Given the description of an element on the screen output the (x, y) to click on. 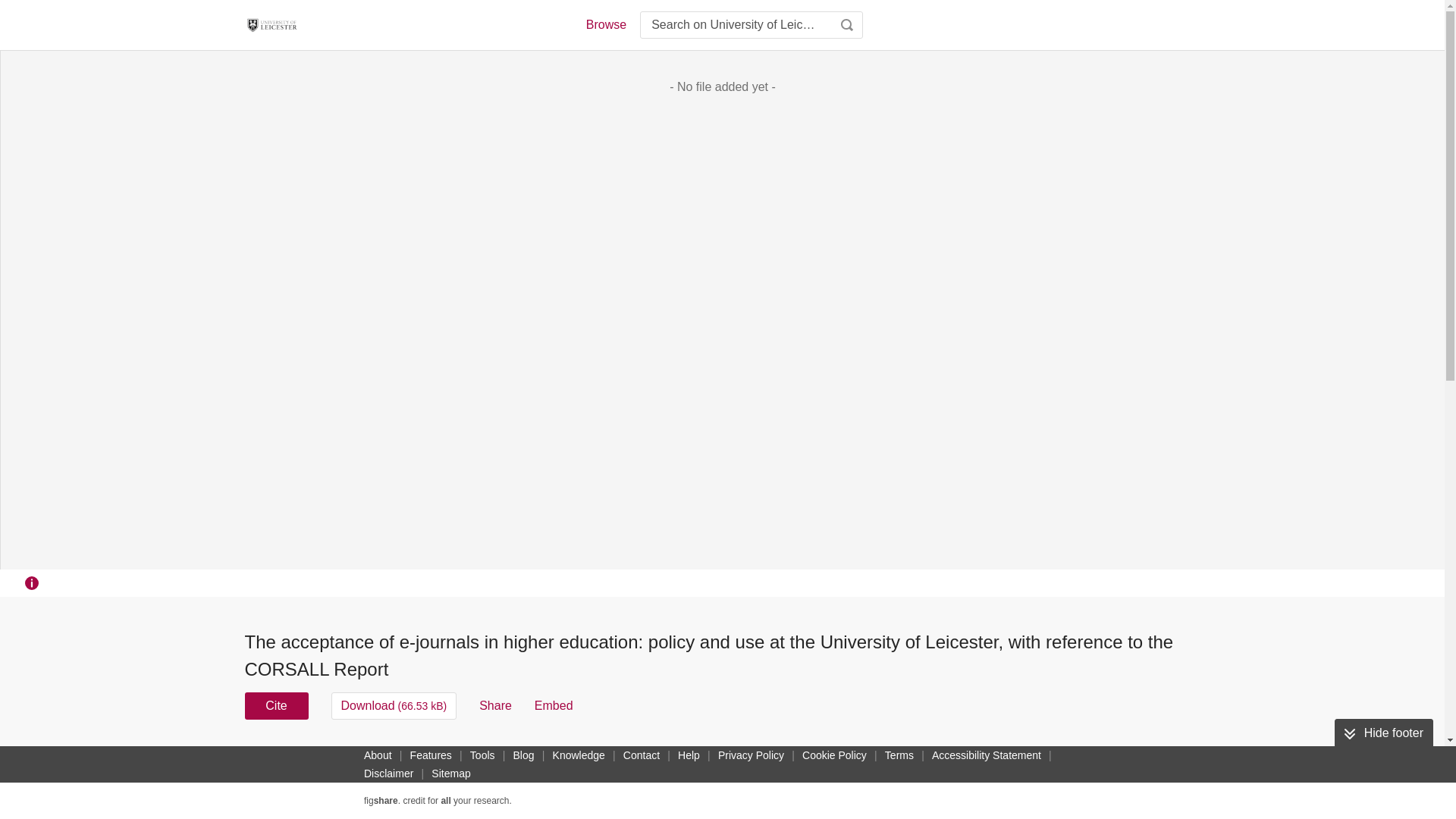
Disclaimer (388, 773)
Share (495, 705)
Embed (553, 705)
Knowledge (579, 755)
Features (431, 755)
Accessibility Statement (986, 755)
Cite (275, 705)
Sitemap (450, 773)
Cookie Policy (833, 755)
Tools (482, 755)
